Given the description of an element on the screen output the (x, y) to click on. 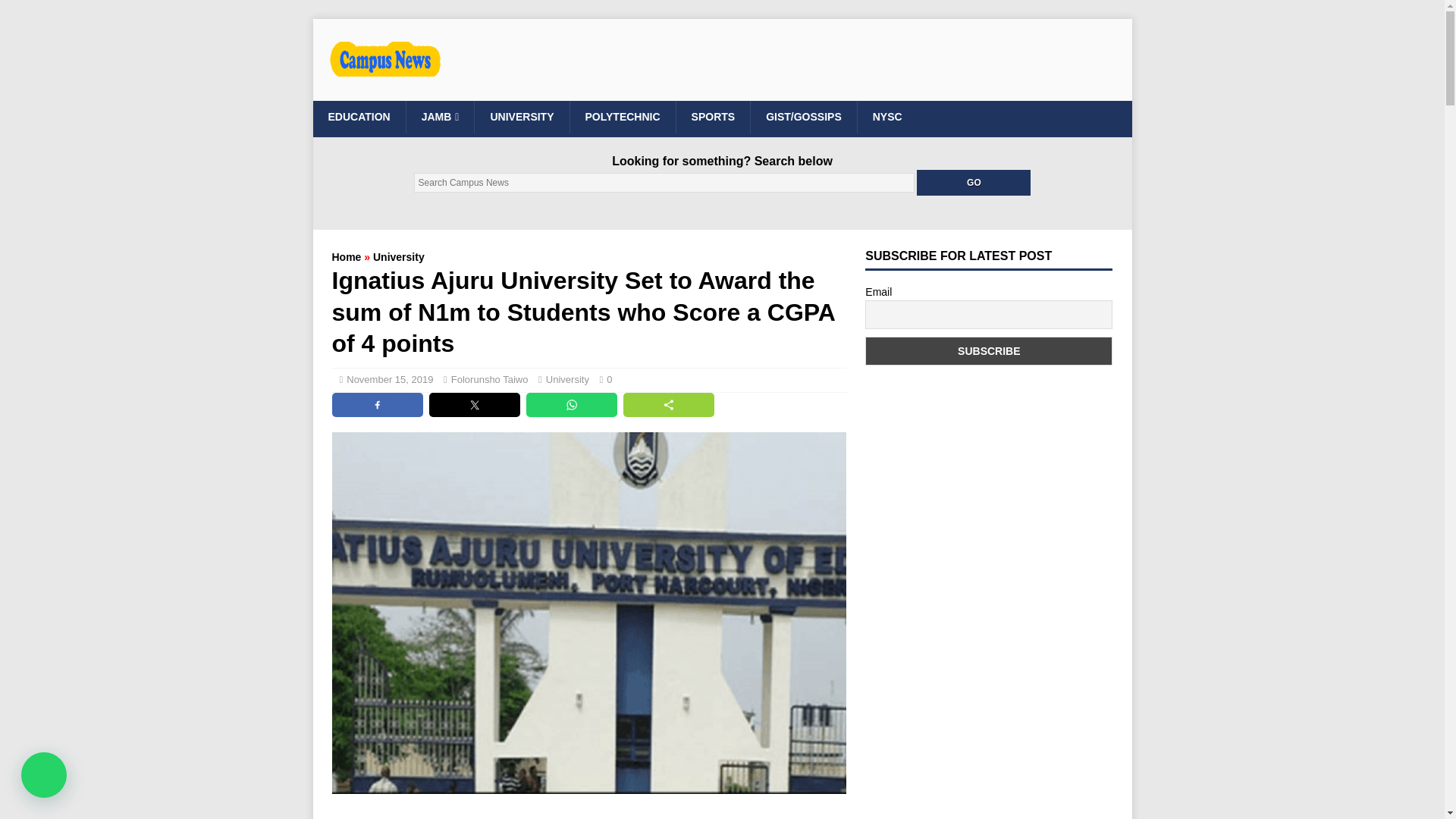
GO (973, 182)
JAMB (440, 116)
SPORTS (713, 116)
UNIVERSITY (521, 116)
Advertisement (588, 814)
Home (346, 256)
University (567, 378)
Subscribe (988, 350)
Folorunsho Taiwo (489, 378)
POLYTECHNIC (622, 116)
NYSC (887, 116)
Advertisement (826, 61)
GO (973, 182)
November 15, 2019 (389, 378)
